Given the description of an element on the screen output the (x, y) to click on. 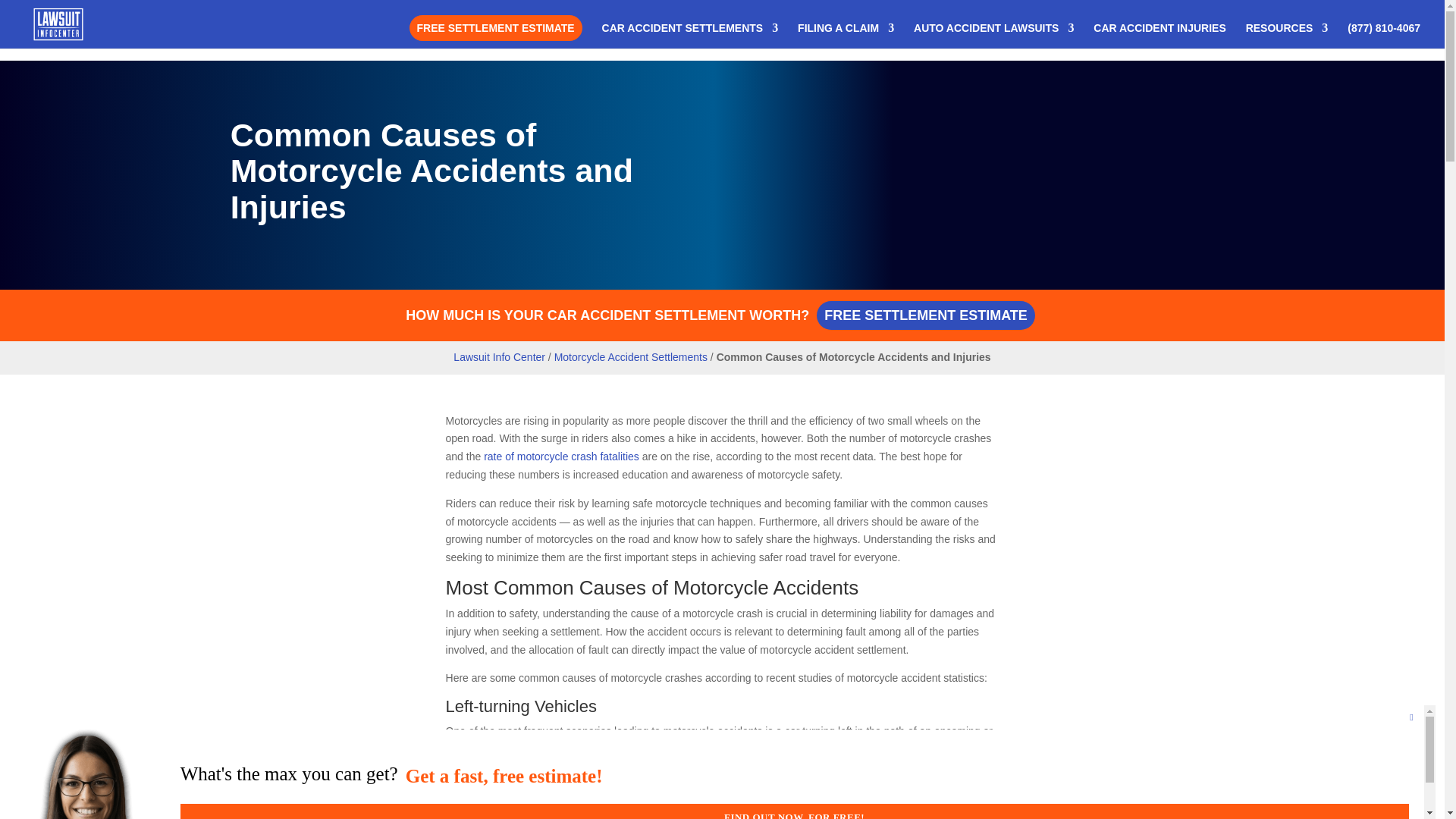
CAR ACCIDENT SETTLEMENTS (690, 35)
CAR ACCIDENT INJURIES (1159, 35)
FILING A CLAIM (845, 35)
AUTO ACCIDENT LAWSUITS (994, 35)
RESOURCES (1286, 35)
FREE SETTLEMENT ESTIMATE (495, 27)
